Given the description of an element on the screen output the (x, y) to click on. 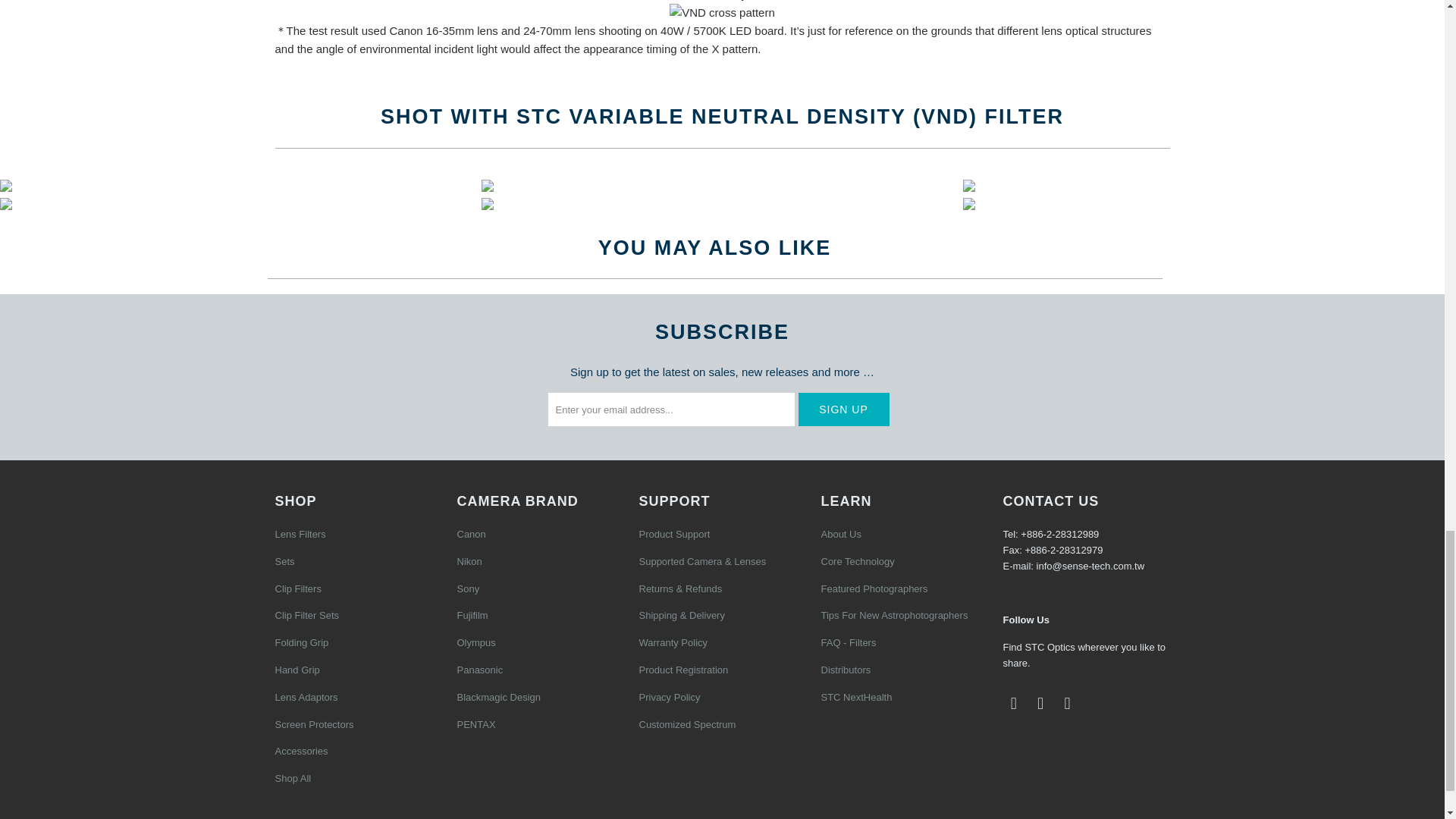
STC Optics on Instagram (1067, 703)
STC Optics on YouTube (1040, 703)
Sign Up (842, 409)
STC Optics on Facebook (1014, 703)
